Given the description of an element on the screen output the (x, y) to click on. 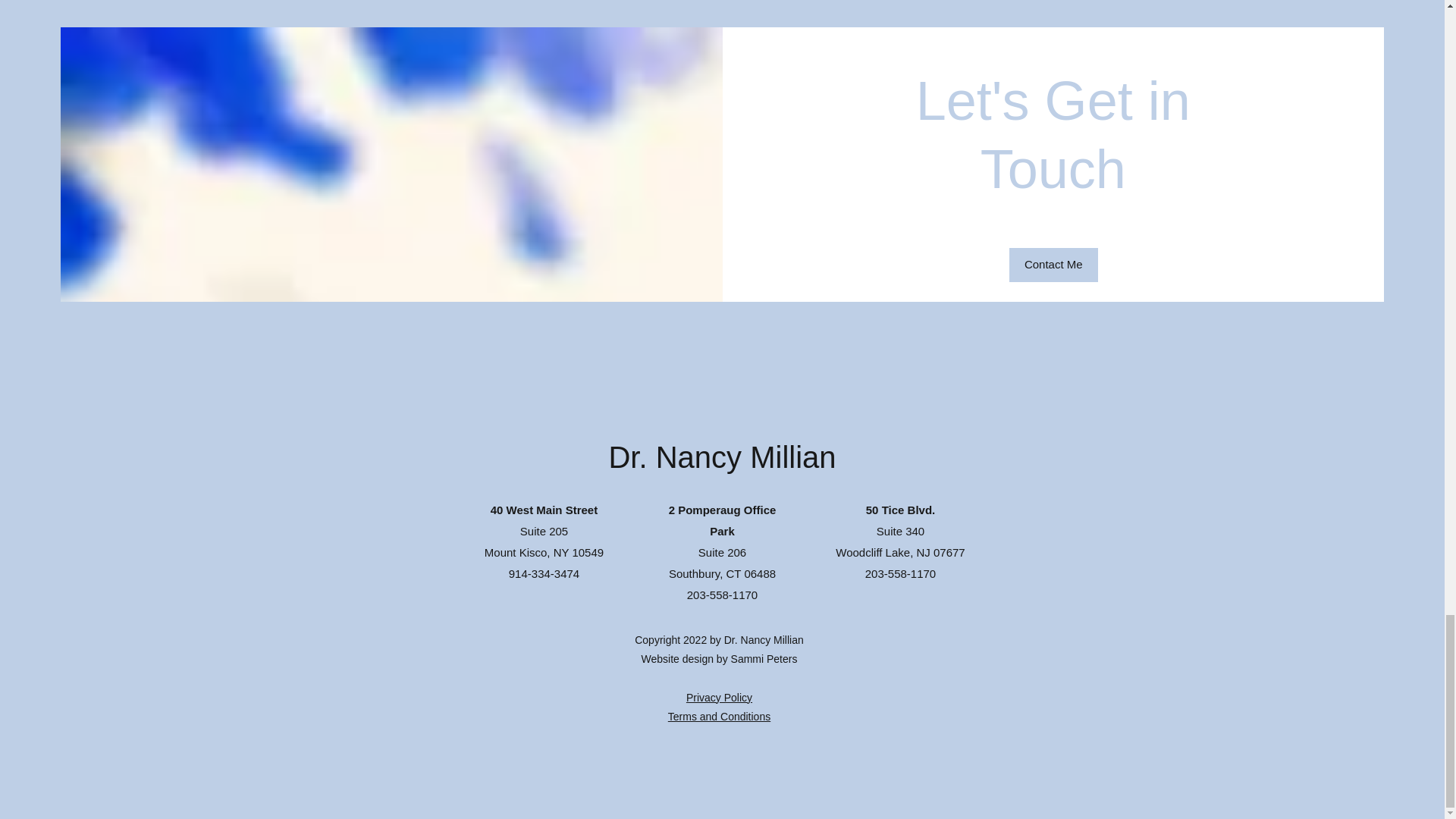
Terms and Conditions (719, 716)
Dr. Nancy Millian (721, 457)
Contact Me (1053, 264)
Privacy Policy (718, 697)
